Given the description of an element on the screen output the (x, y) to click on. 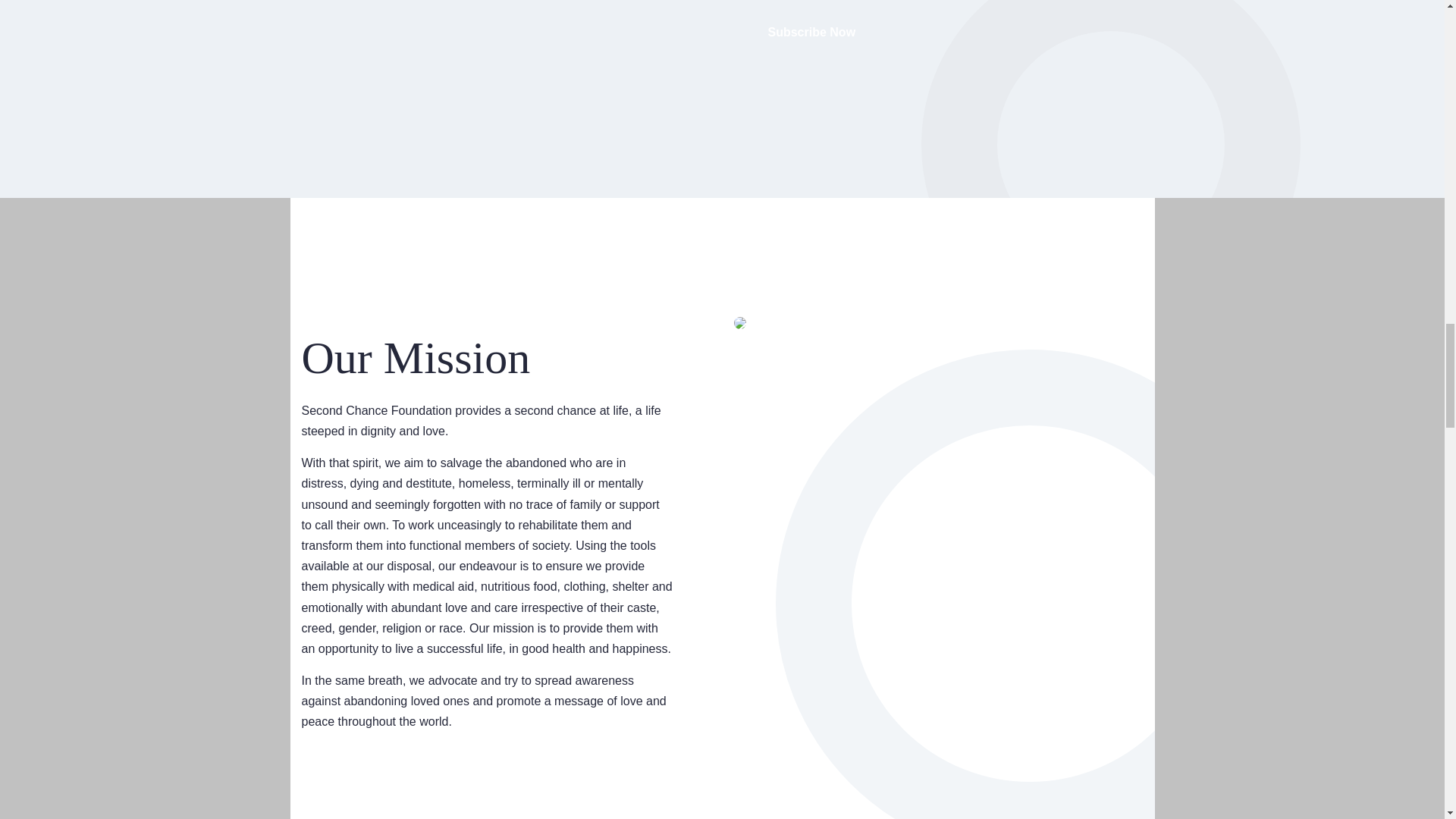
Read More (366, 796)
Subscribe Now (811, 32)
